Given the description of an element on the screen output the (x, y) to click on. 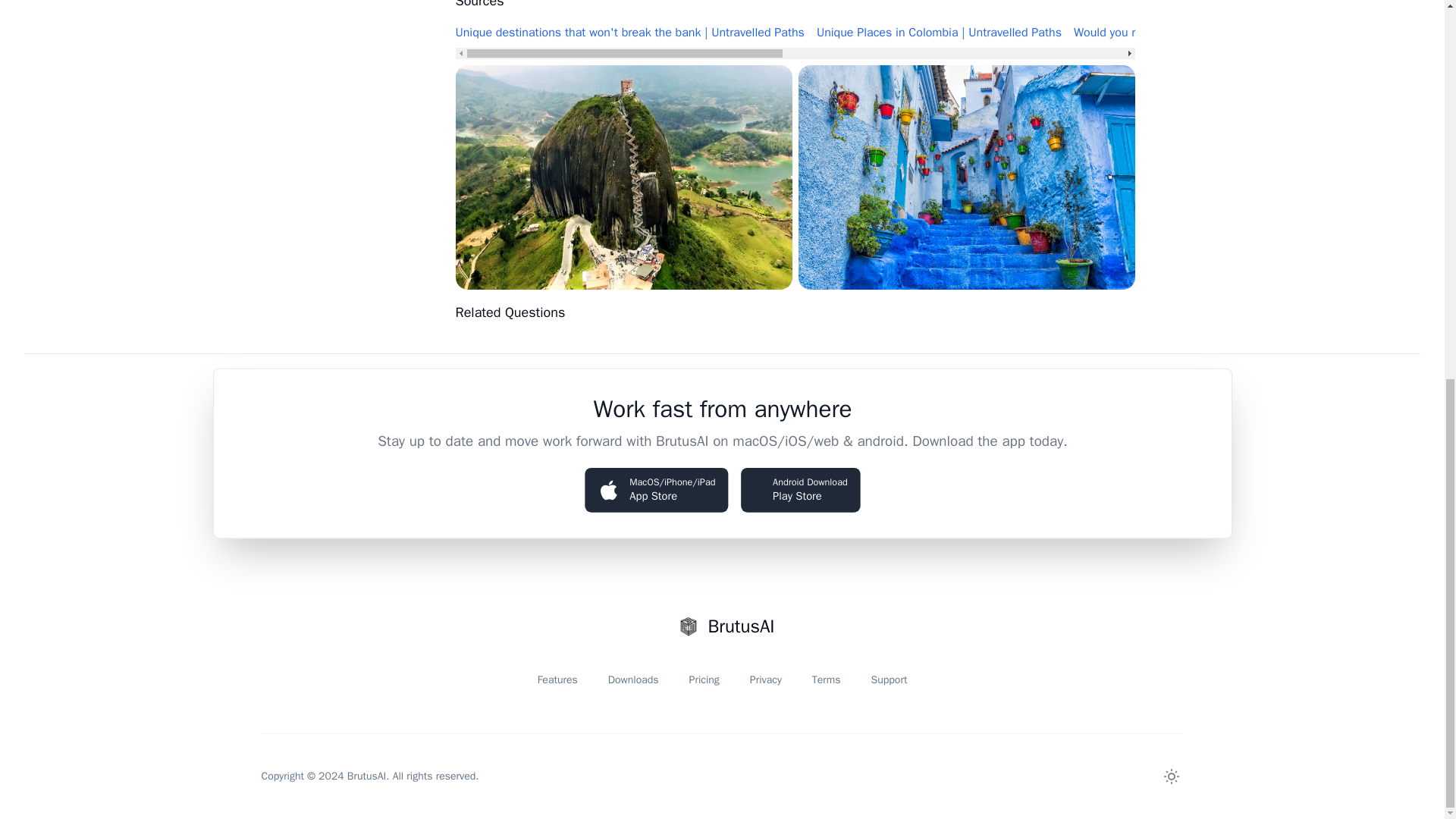
Terms (826, 679)
Pricing (703, 679)
Privacy (765, 679)
Support (889, 679)
Features (557, 679)
Toggle theme (797, 488)
Downloads (1170, 776)
